Given the description of an element on the screen output the (x, y) to click on. 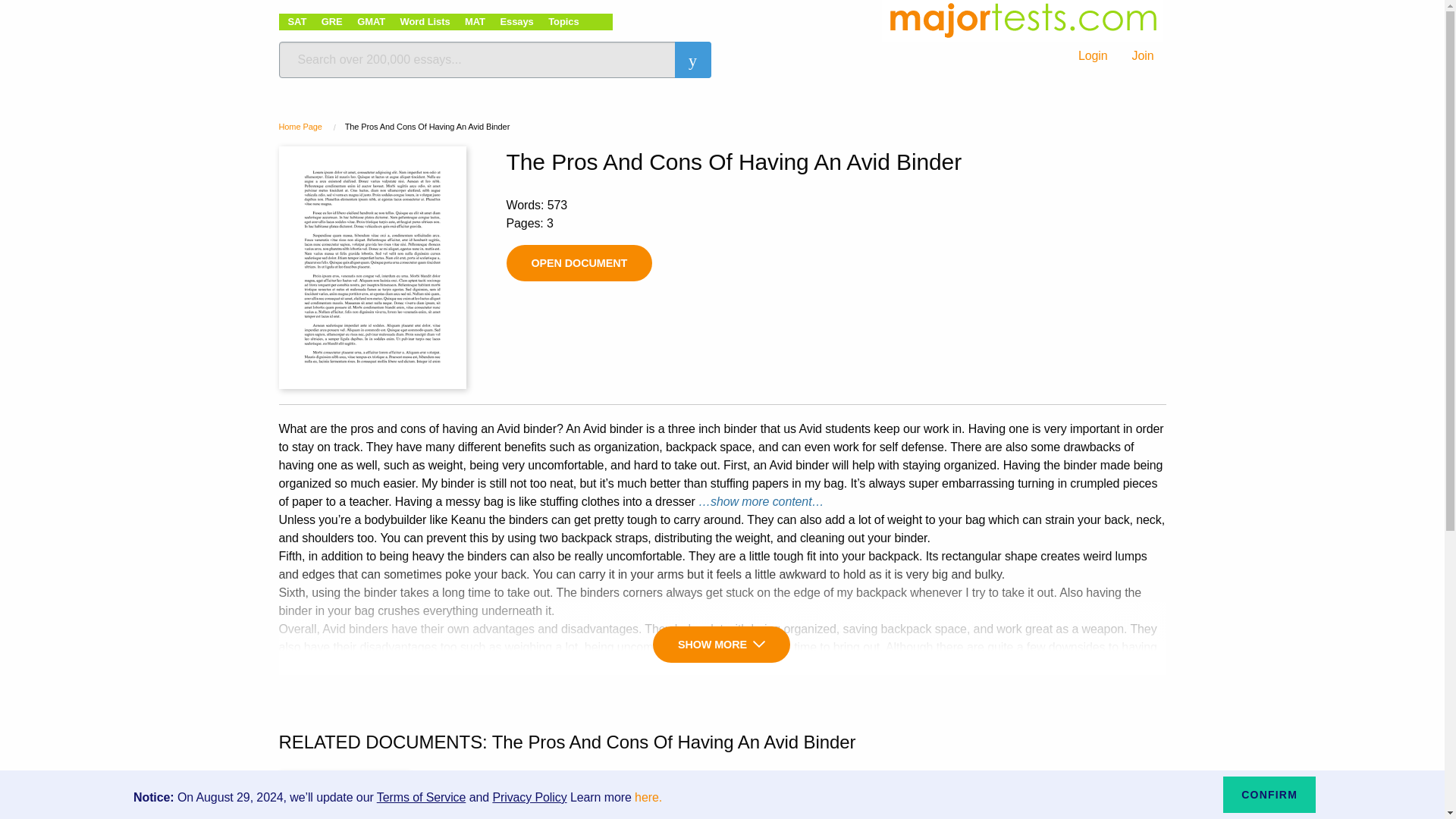
Terms of Service (421, 797)
Join (1142, 55)
CONFIRM (1269, 794)
Essays (515, 21)
GMAT (370, 21)
OPEN DOCUMENT (579, 262)
Login (1092, 55)
Word Lists (424, 21)
Topics (563, 21)
Privacy Policy (529, 797)
